Given the description of an element on the screen output the (x, y) to click on. 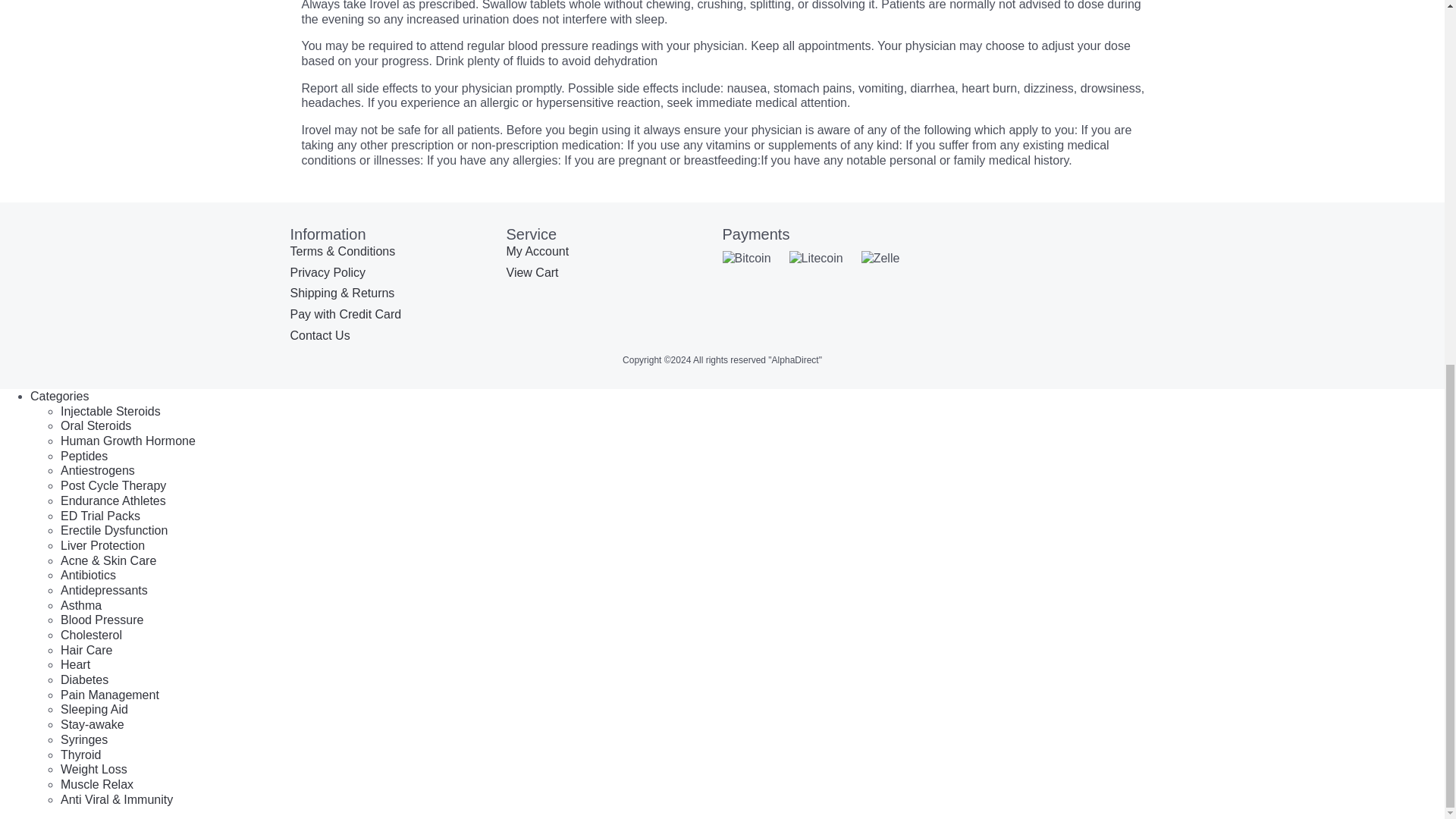
Privacy Policy (327, 272)
Injectable Steroids (110, 410)
View Cart (532, 272)
Pay with Credit Card (345, 314)
My Account (537, 250)
Contact Us (319, 335)
Categories (59, 395)
